Given the description of an element on the screen output the (x, y) to click on. 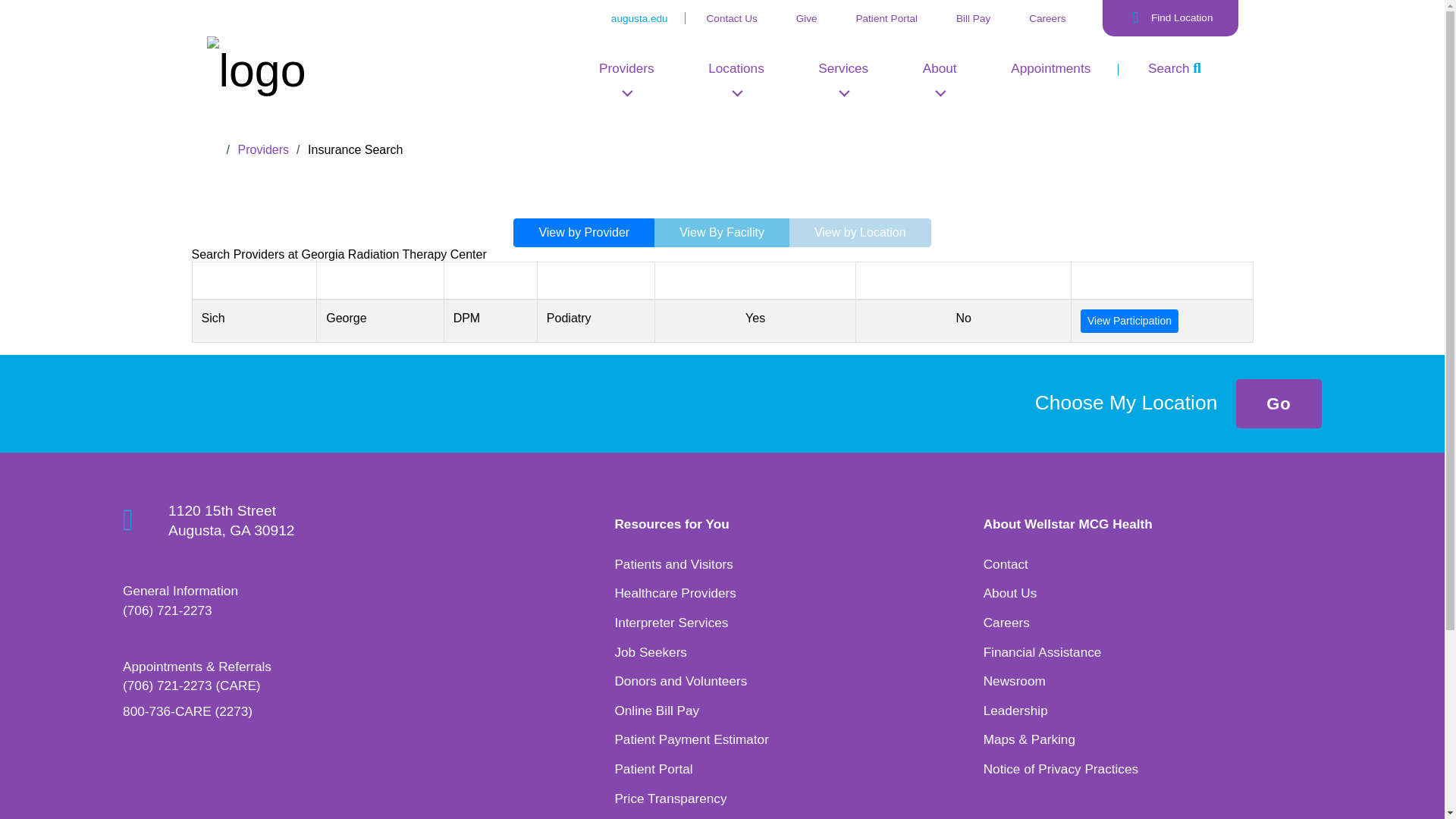
Give (806, 18)
Contact Us (731, 18)
About (939, 72)
Patient Portal (886, 18)
Careers (1047, 18)
Locations (735, 72)
Bill Pay (973, 18)
Find Location (1170, 18)
Providers (626, 72)
Services (843, 72)
augusta.edu (639, 18)
